Given the description of an element on the screen output the (x, y) to click on. 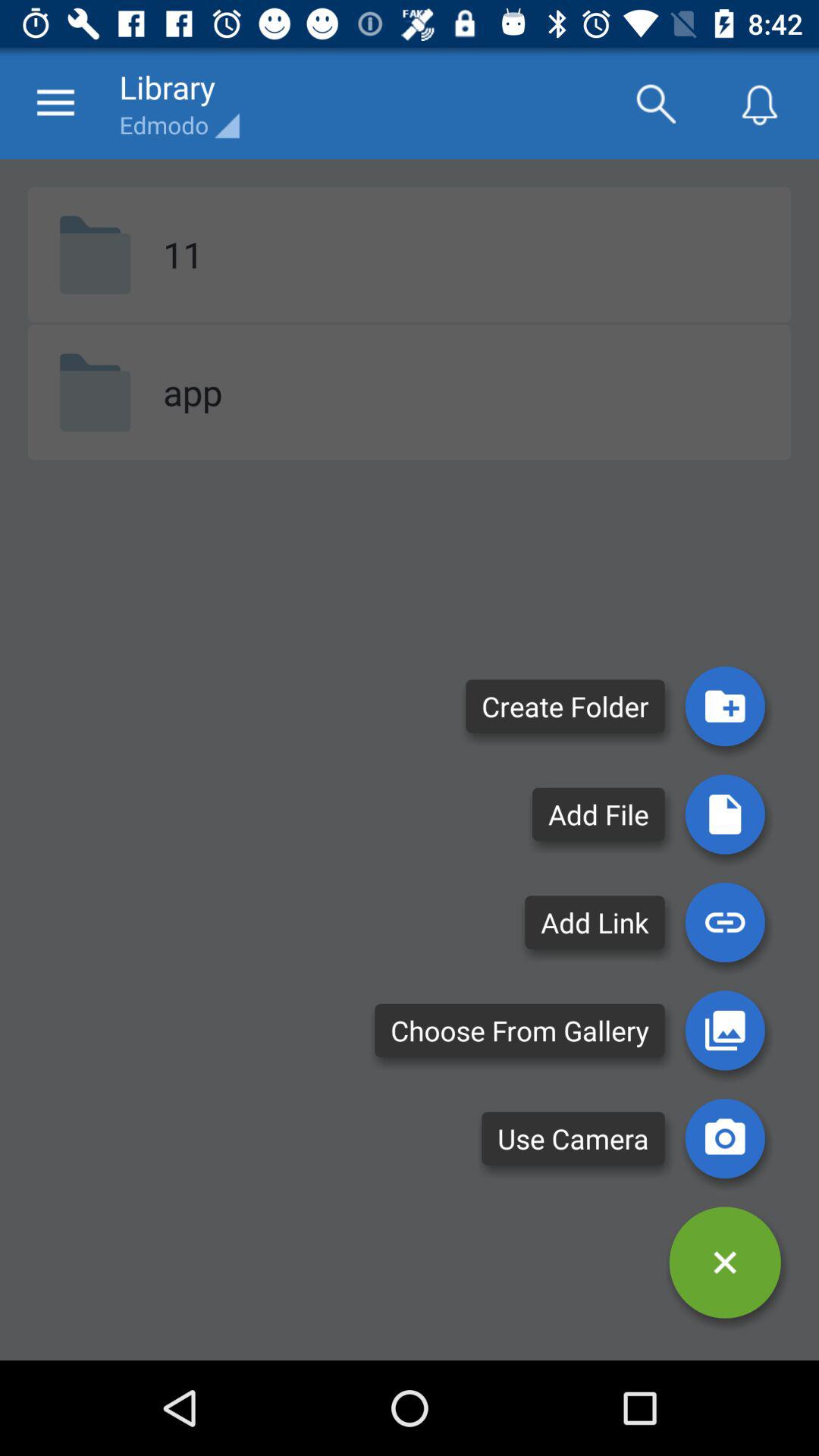
press the icon next to library icon (655, 103)
